Given the description of an element on the screen output the (x, y) to click on. 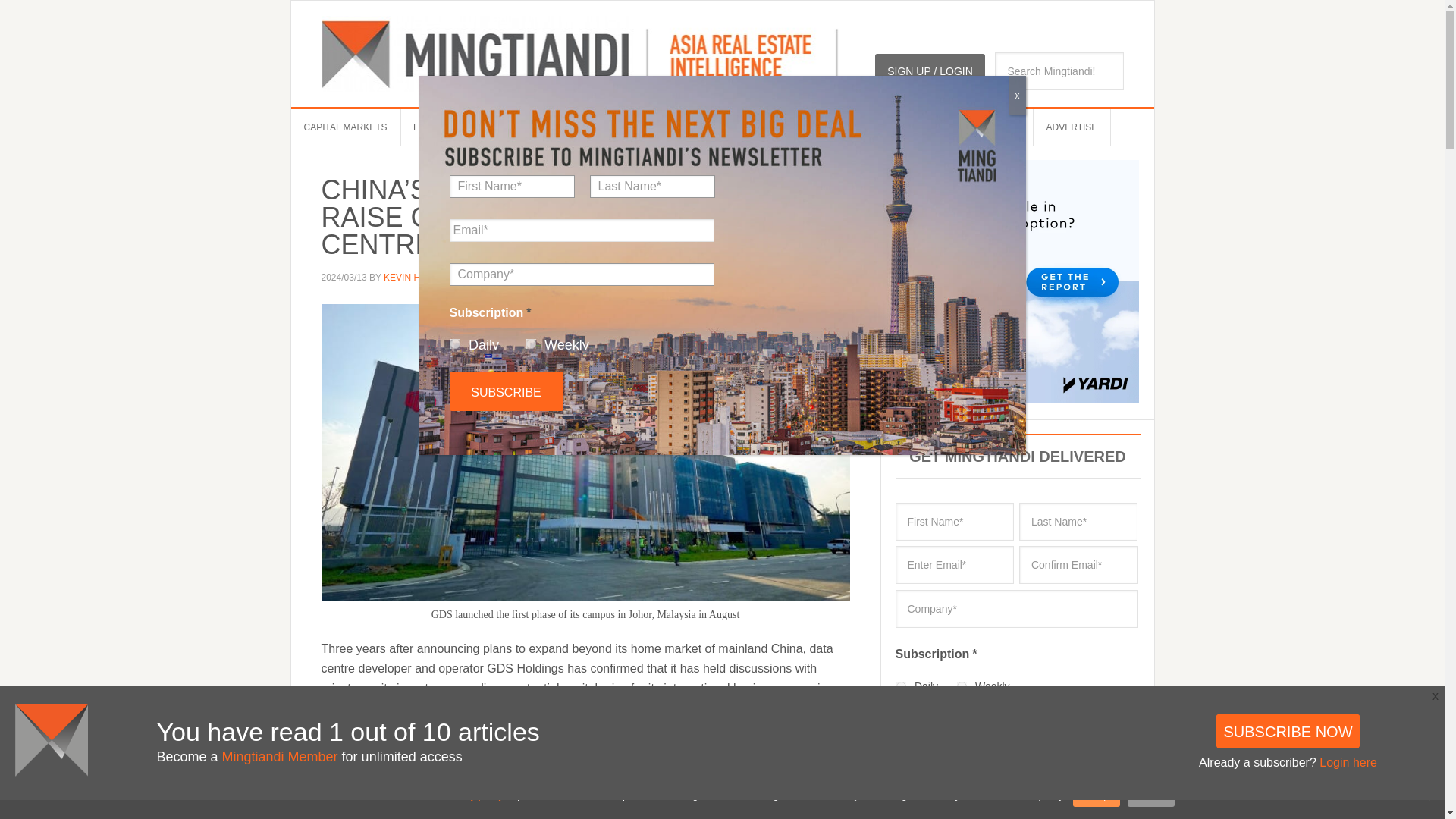
KEVIN HE (405, 276)
Daily (454, 343)
Subscribe (937, 727)
DATA CENTRES (706, 126)
ASIA OUTBOUND (805, 126)
Daily (900, 686)
LOGISTICS (622, 126)
EVENTS (431, 126)
RETAIL (883, 126)
PEOPLE (553, 126)
Weekly (530, 343)
ADVERTISE (1072, 126)
